Given the description of an element on the screen output the (x, y) to click on. 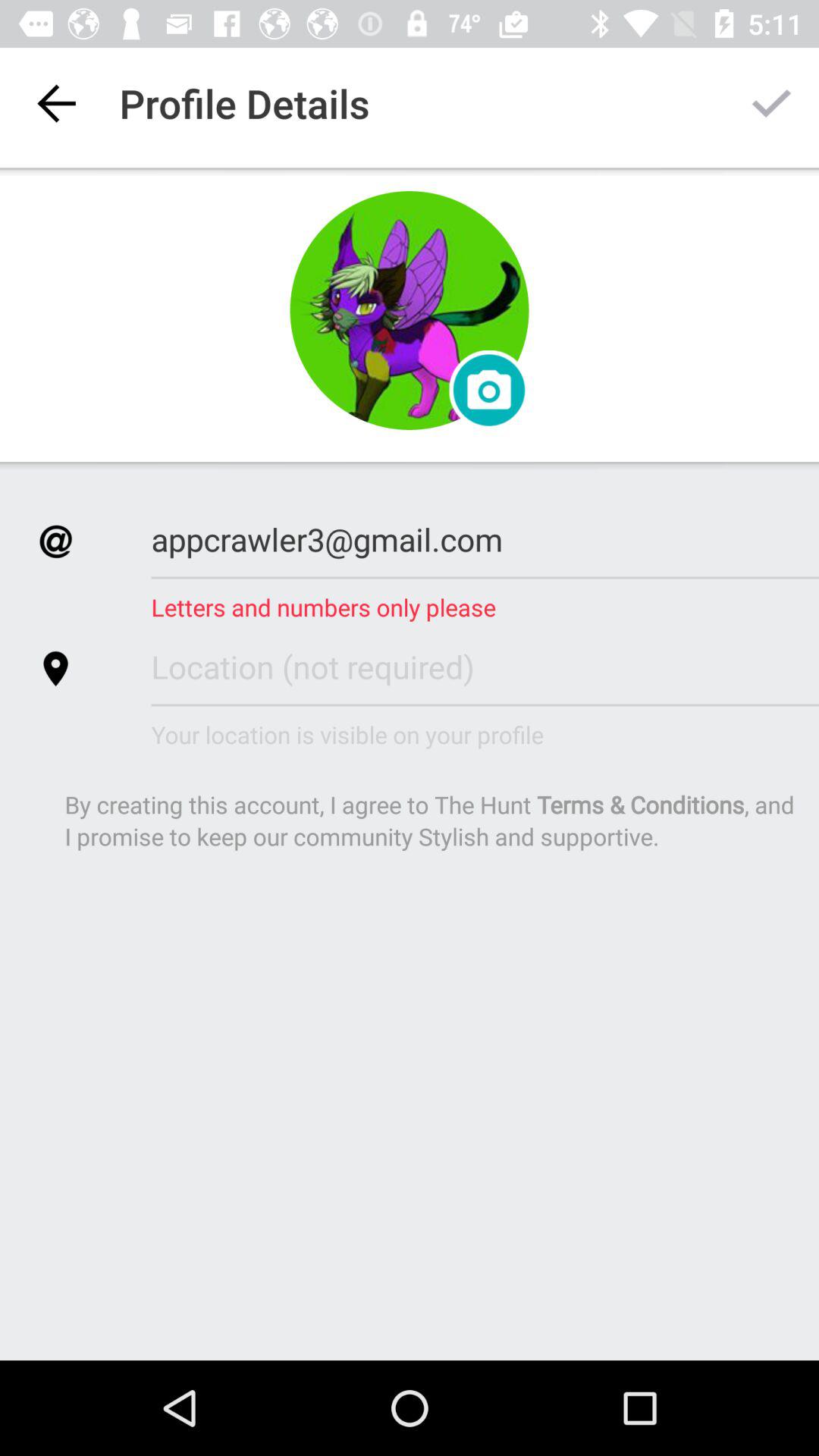
add profile pic or avatar (409, 310)
